Given the description of an element on the screen output the (x, y) to click on. 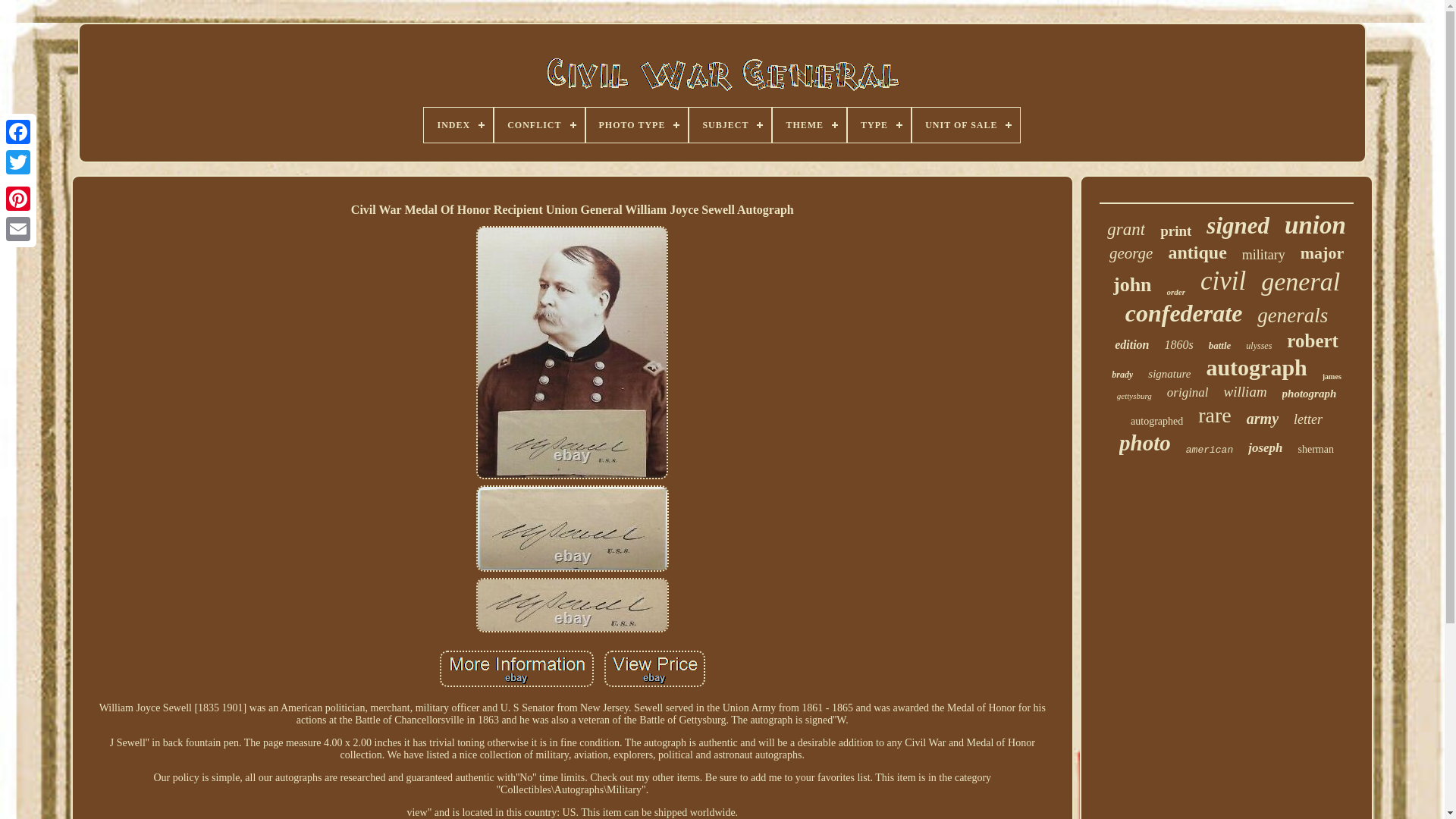
CONFLICT (539, 124)
PHOTO TYPE (636, 124)
SUBJECT (729, 124)
INDEX (458, 124)
Pinterest (17, 198)
